Given the description of an element on the screen output the (x, y) to click on. 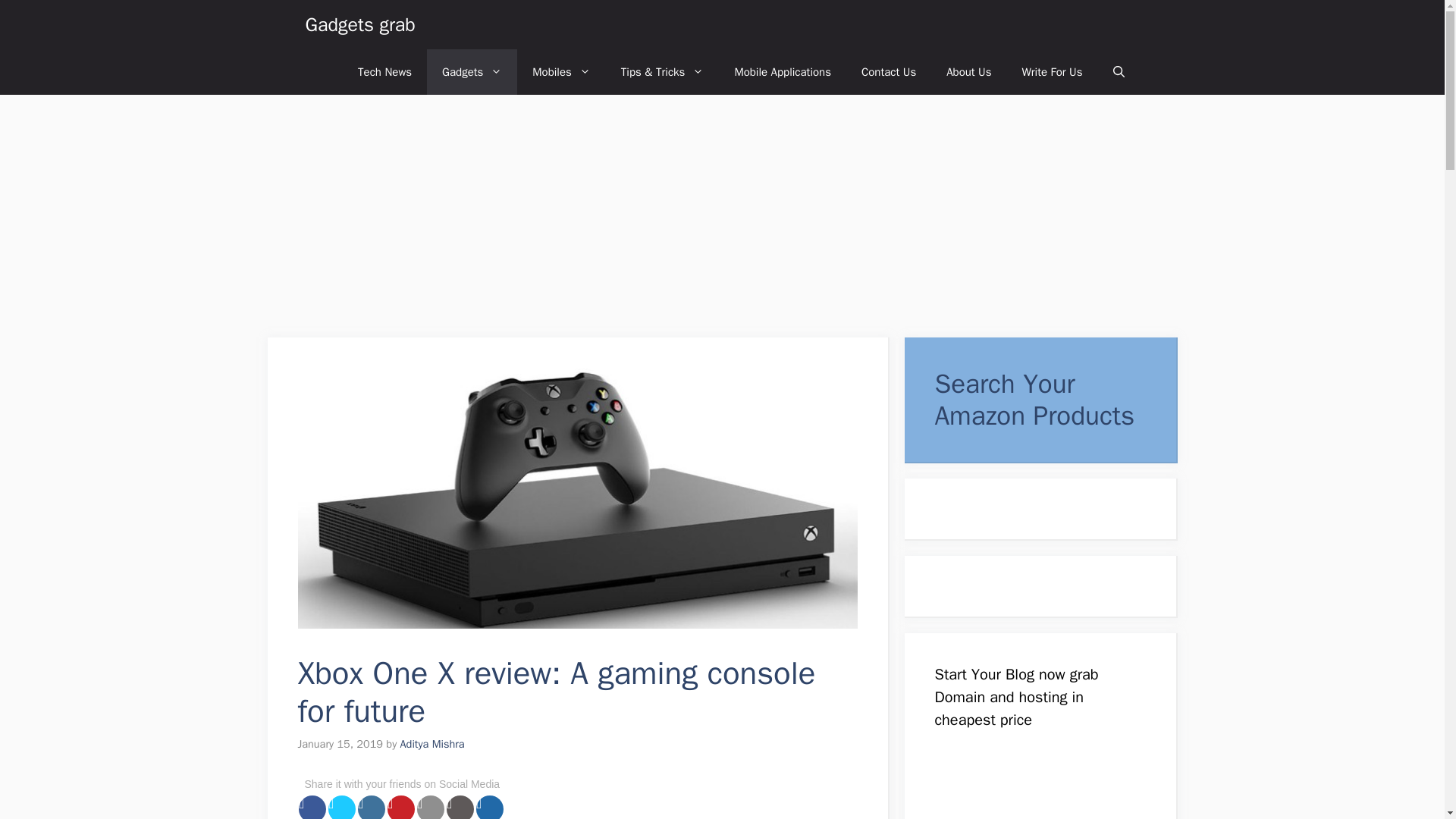
Gadgets (471, 72)
Share it on Email (430, 807)
Mobiles (560, 72)
Print (460, 807)
Tech News (384, 72)
Share on Facebook (312, 807)
View all posts by Aditya Mishra (432, 744)
Share on Digg (489, 807)
Share on Pinterest (400, 807)
Share on LinkedIn (371, 807)
About Us (968, 72)
Mobile Applications (782, 72)
Contact Us (888, 72)
Share on Twitter (342, 807)
